Given the description of an element on the screen output the (x, y) to click on. 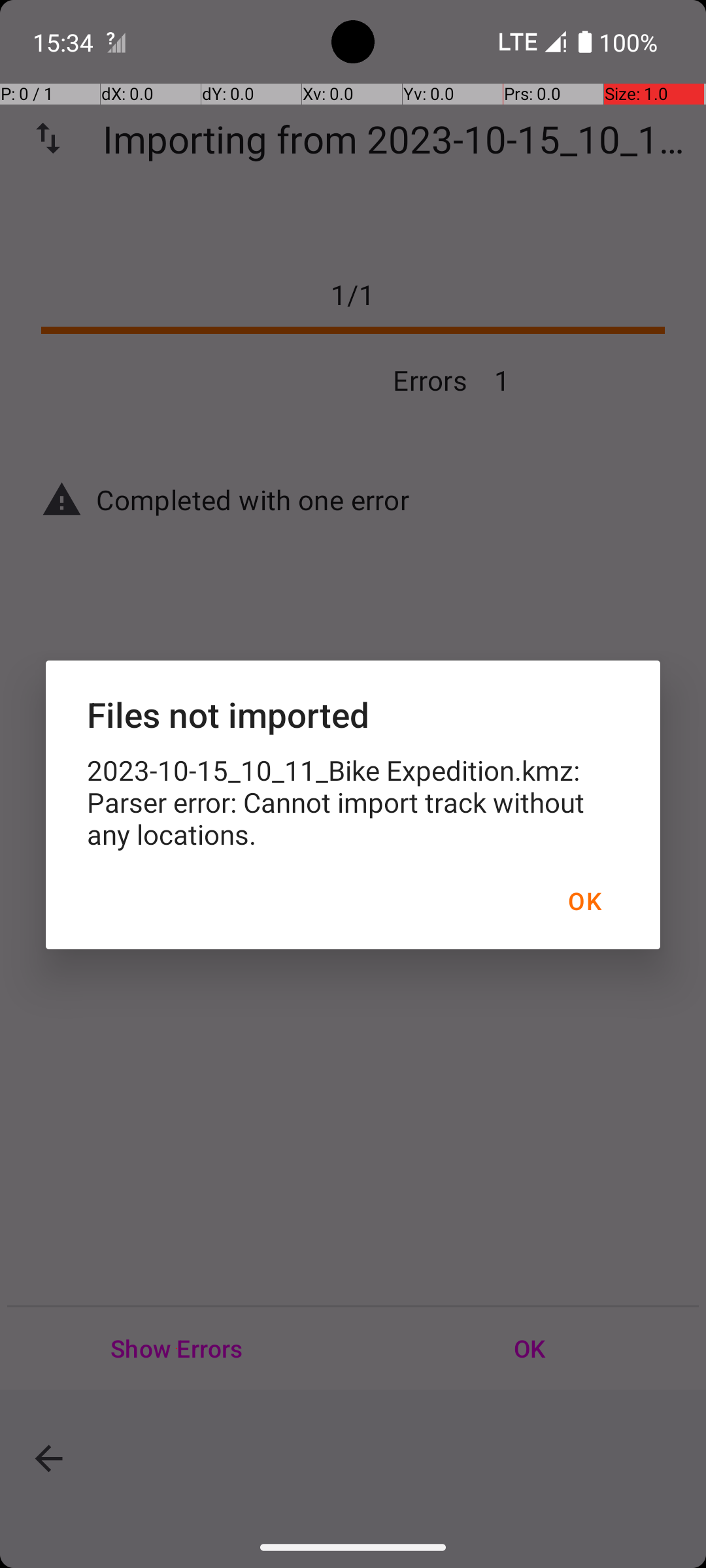
Files not imported Element type: android.widget.TextView (352, 714)
2023-10-15_10_11_Bike Expedition.kmz: Parser error: Cannot import track without any locations. Element type: android.widget.TextView (352, 801)
